Given the description of an element on the screen output the (x, y) to click on. 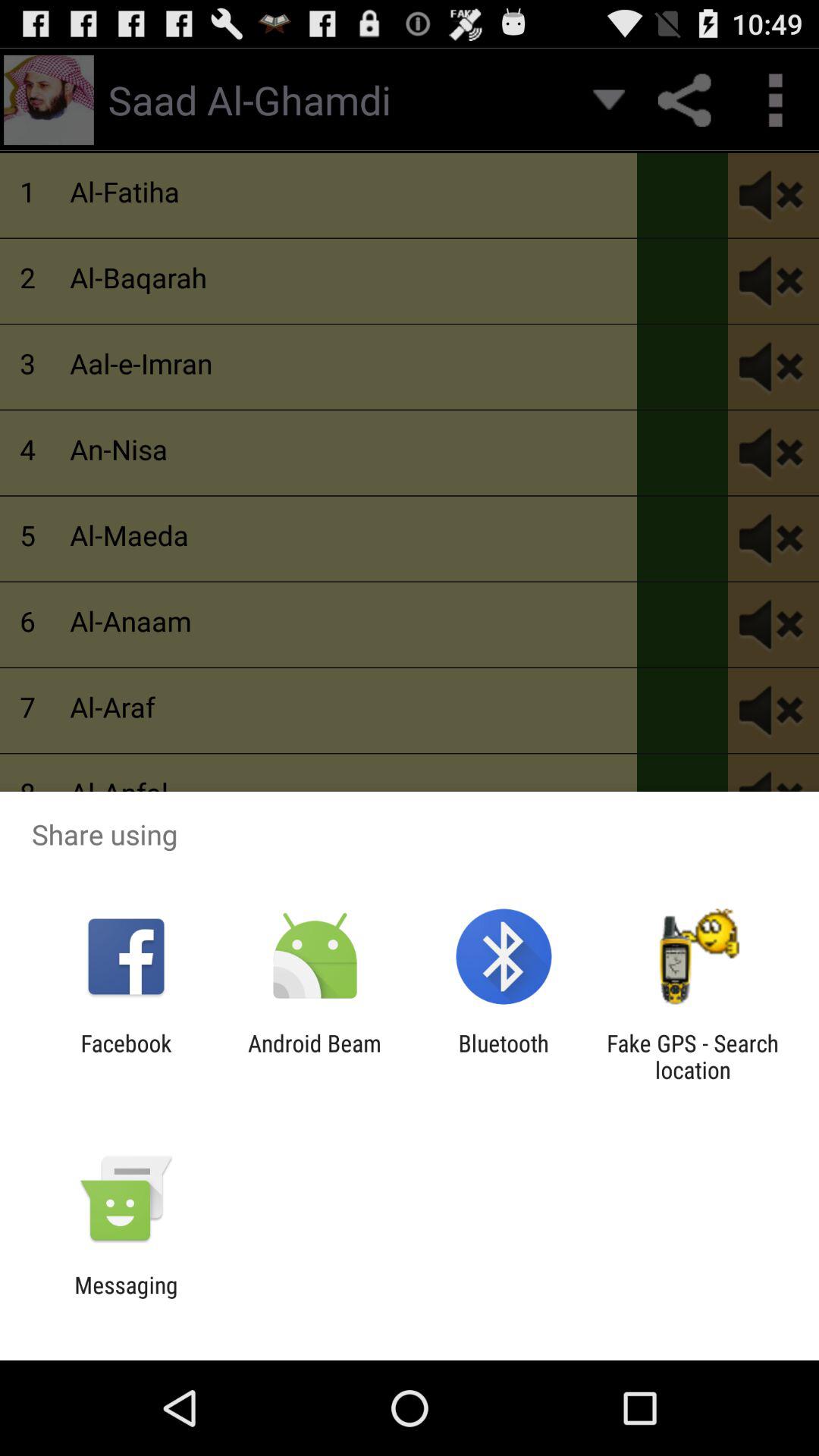
choose the item next to the fake gps search (503, 1056)
